Given the description of an element on the screen output the (x, y) to click on. 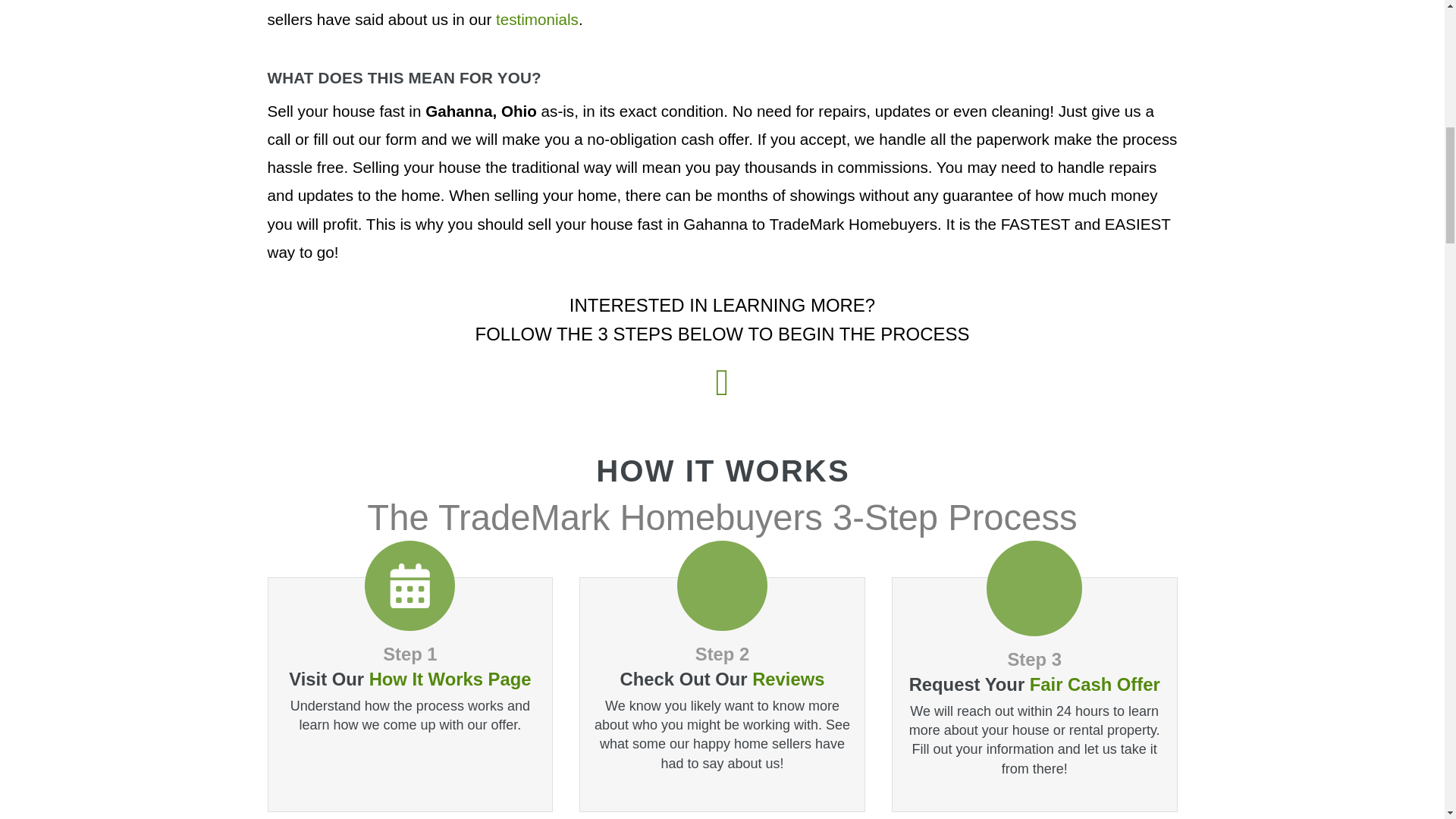
Fair Cash Offer (1094, 684)
Reviews (788, 679)
How It Works Page (450, 679)
testimonials (537, 18)
